Given the description of an element on the screen output the (x, y) to click on. 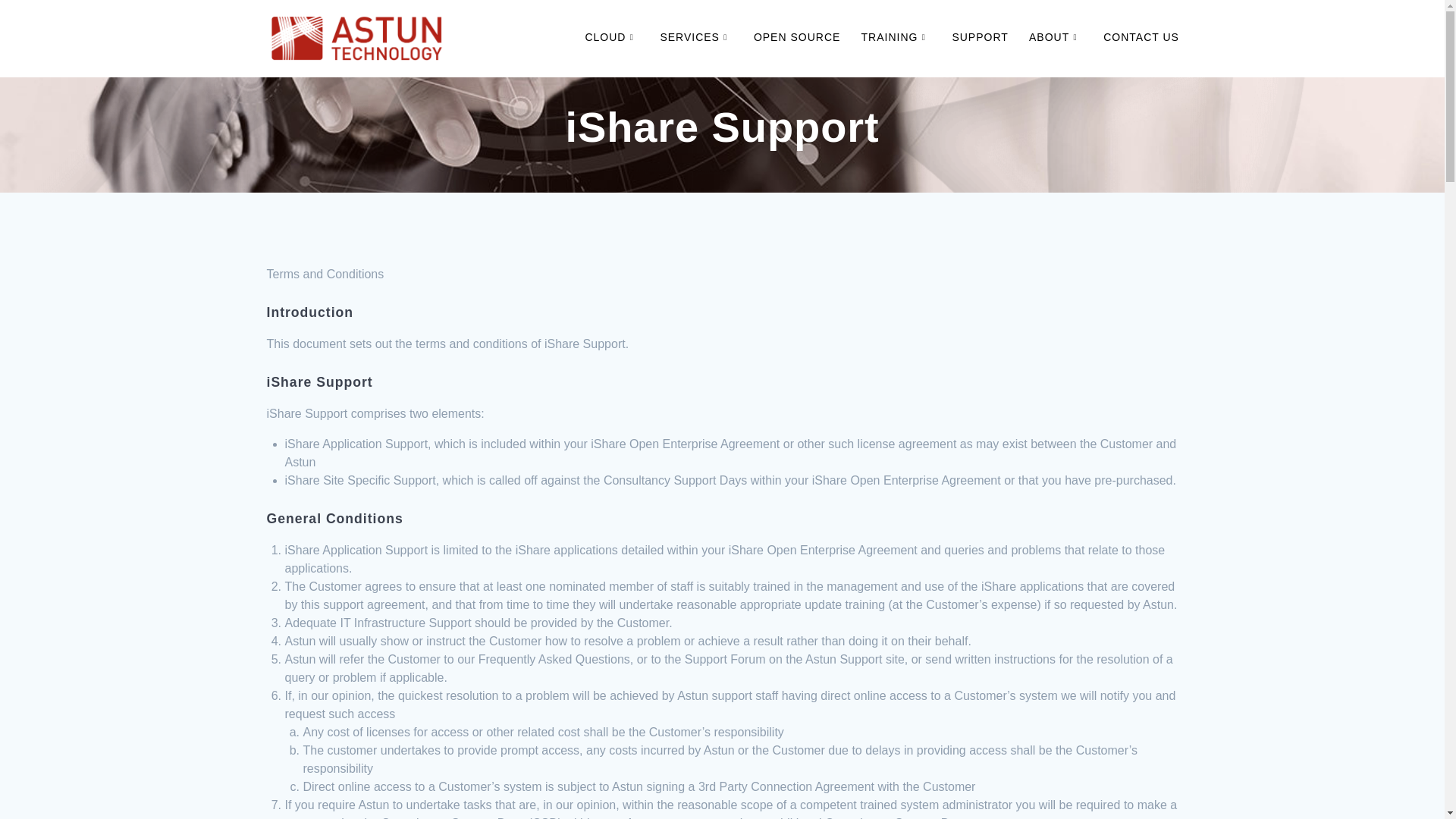
CLOUD (612, 37)
SERVICES (695, 37)
CONTACT US (1141, 37)
OPEN SOURCE (797, 37)
ABOUT (1056, 37)
SUPPORT (979, 37)
TRAINING (896, 37)
